Given the description of an element on the screen output the (x, y) to click on. 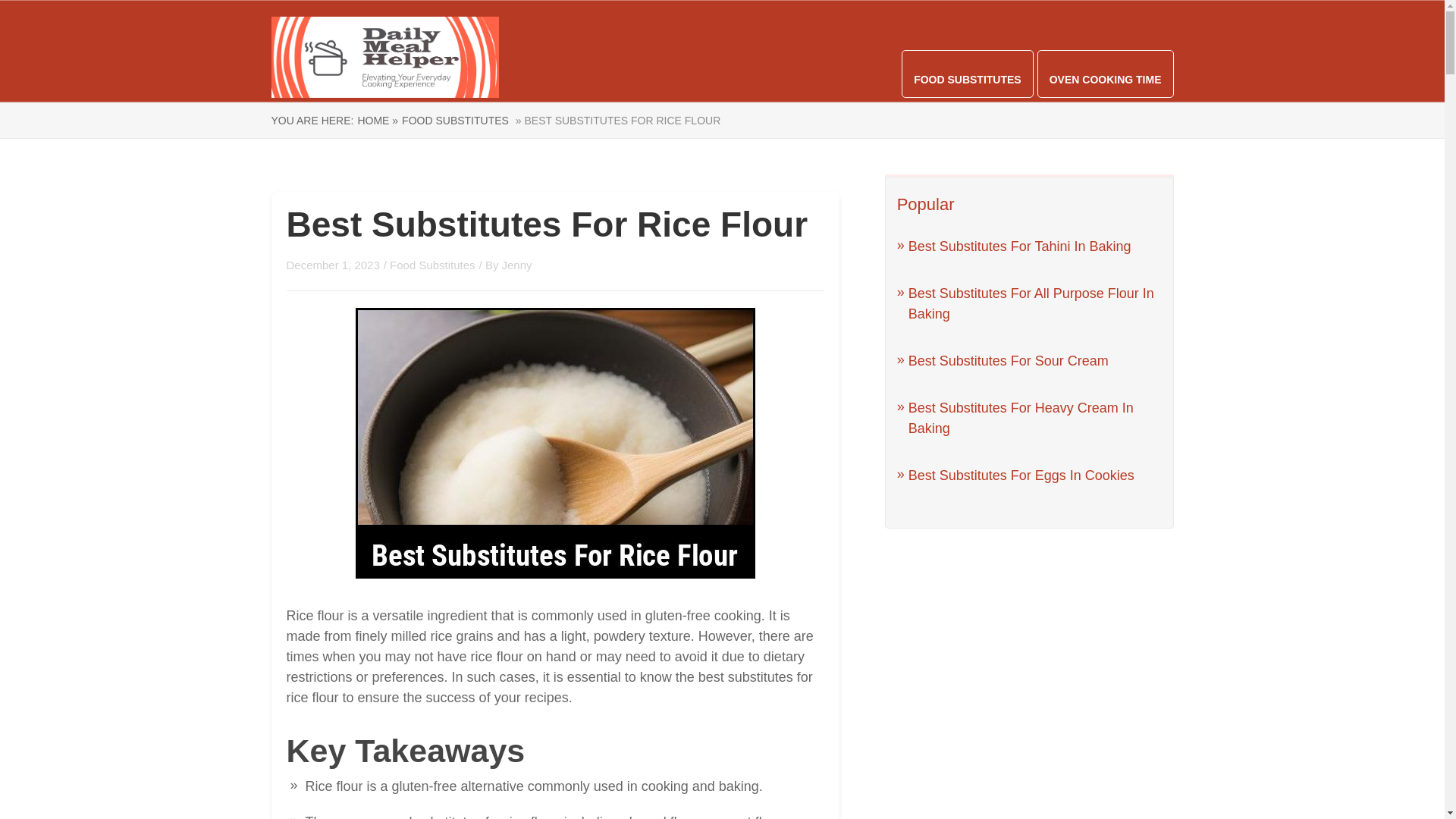
Best Substitutes For All Purpose Flour In Baking (1031, 303)
Best Substitutes For Sour Cream (1008, 360)
Best Substitutes For Eggs In Cookies (1021, 475)
FOOD SUBSTITUTES (968, 79)
Jenny (517, 264)
Best Substitutes For Sour Cream (1008, 360)
OVEN COOKING TIME (1105, 79)
FOOD SUBSTITUTES (454, 120)
Best Substitutes For Eggs In Cookies (1021, 475)
Best Substitutes For Tahini In Baking (1019, 246)
Best Substitutes For Tahini In Baking (1019, 246)
Best Substitutes For Heavy Cream In Baking (1021, 417)
Best Substitutes For Heavy Cream In Baking (1021, 417)
Food Substitutes (432, 264)
Best Substitutes For All Purpose Flour In Baking (1031, 303)
